Given the description of an element on the screen output the (x, y) to click on. 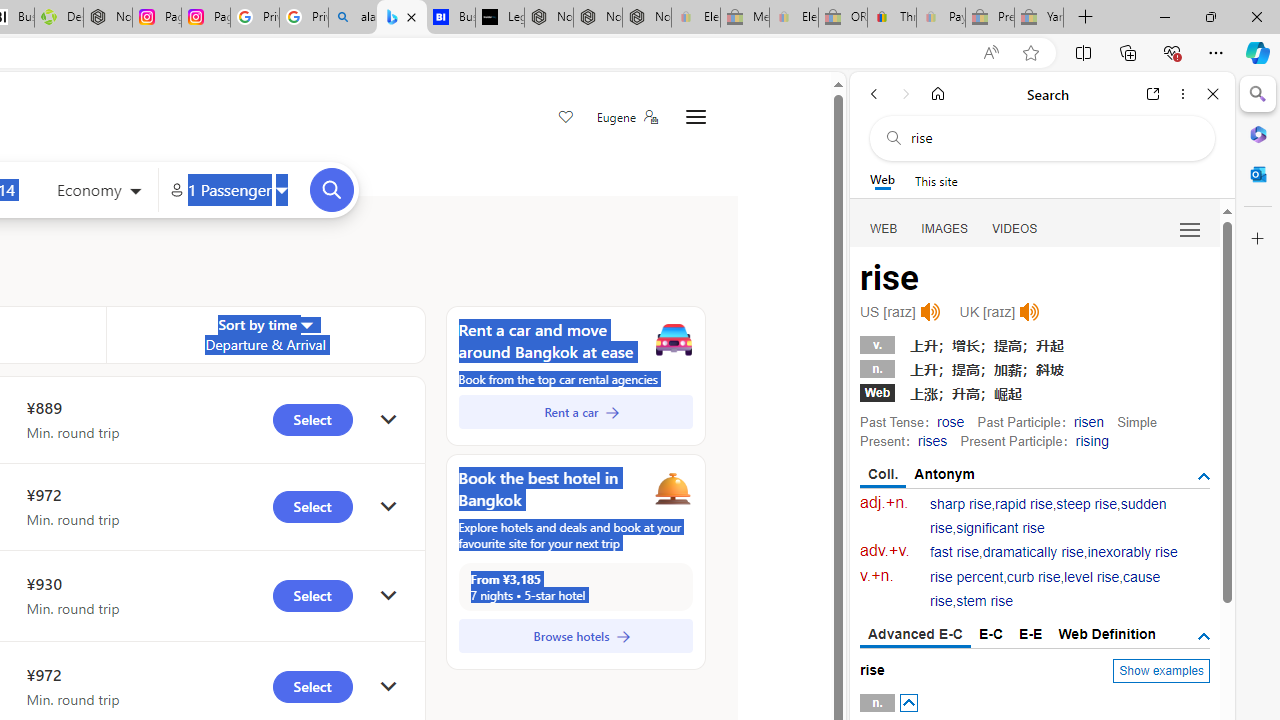
steep rise (1086, 503)
inexorably rise (1131, 552)
